Given the description of an element on the screen output the (x, y) to click on. 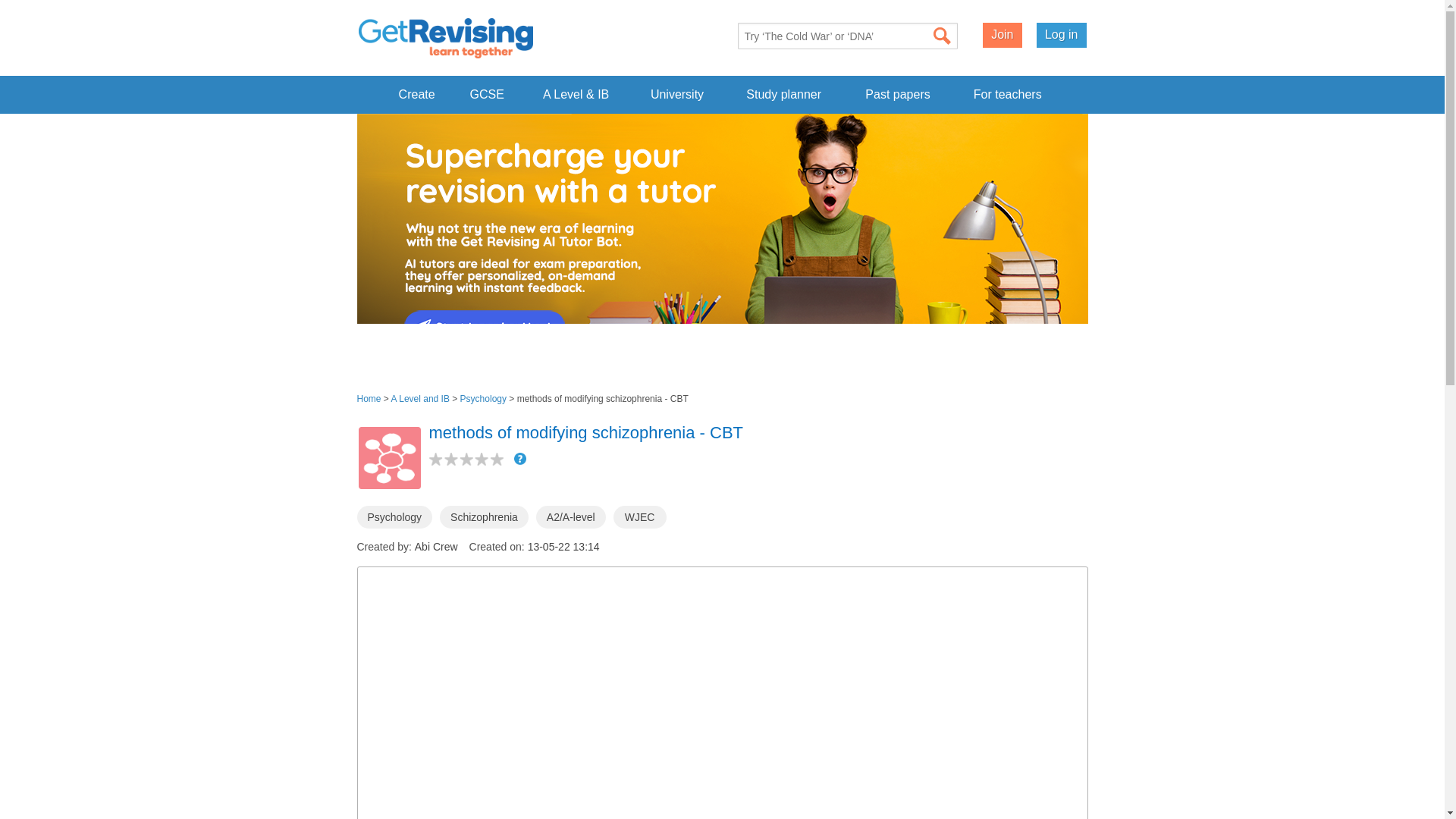
Past papers (898, 94)
Schizophrenia (483, 517)
How ratings and recommendations work (519, 458)
Schizophrenia (483, 517)
Psychology (483, 398)
WJEC (639, 517)
Psychology (394, 517)
Get Revising (445, 38)
Psychology (394, 517)
University (676, 94)
A Level and IB (420, 398)
GCSE (486, 94)
Log in (1061, 34)
Not rated (466, 459)
Abi Crew (436, 546)
